Given the description of an element on the screen output the (x, y) to click on. 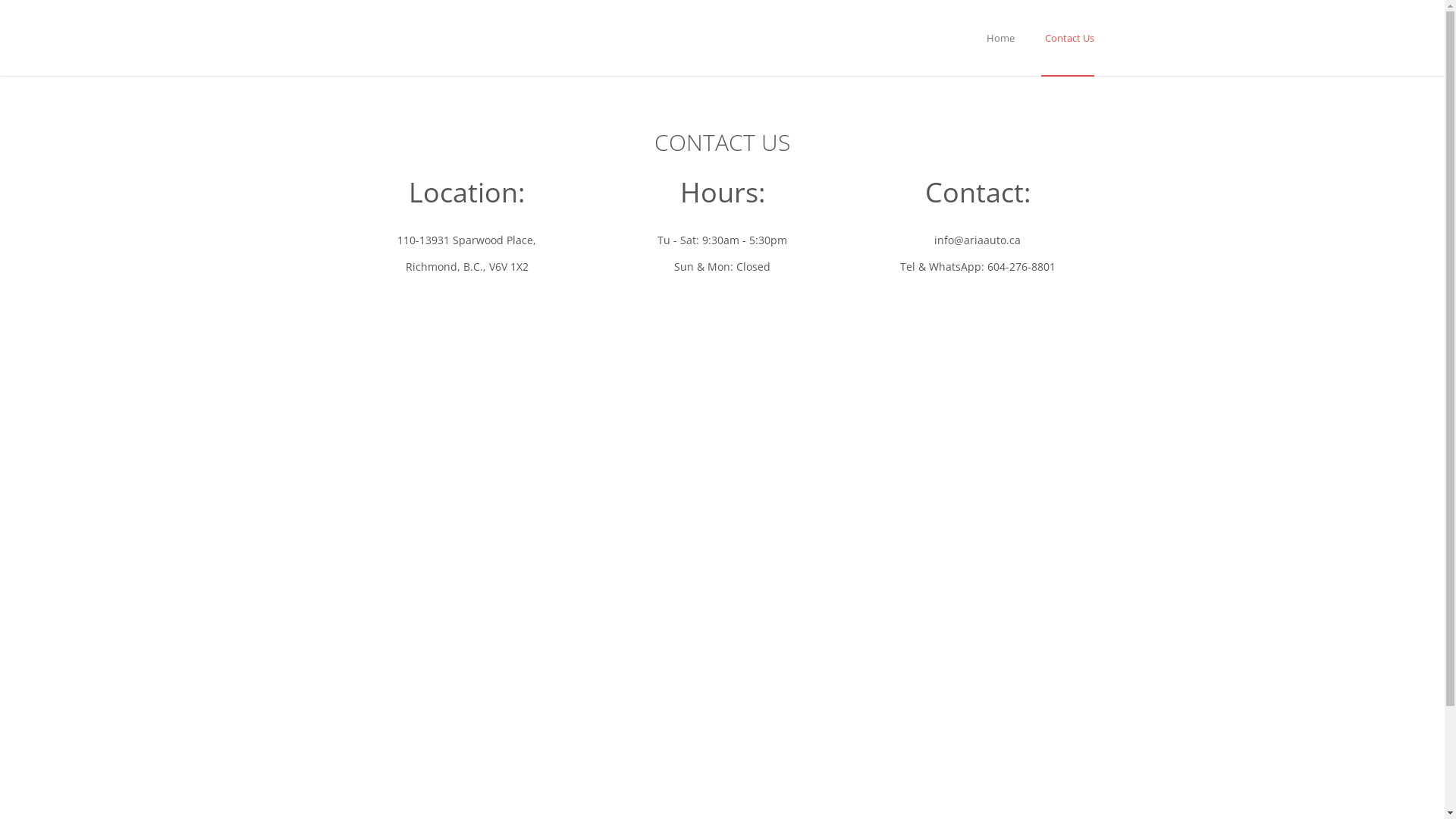
Contact Us Element type: text (1066, 38)
Home Element type: text (1000, 38)
